Given the description of an element on the screen output the (x, y) to click on. 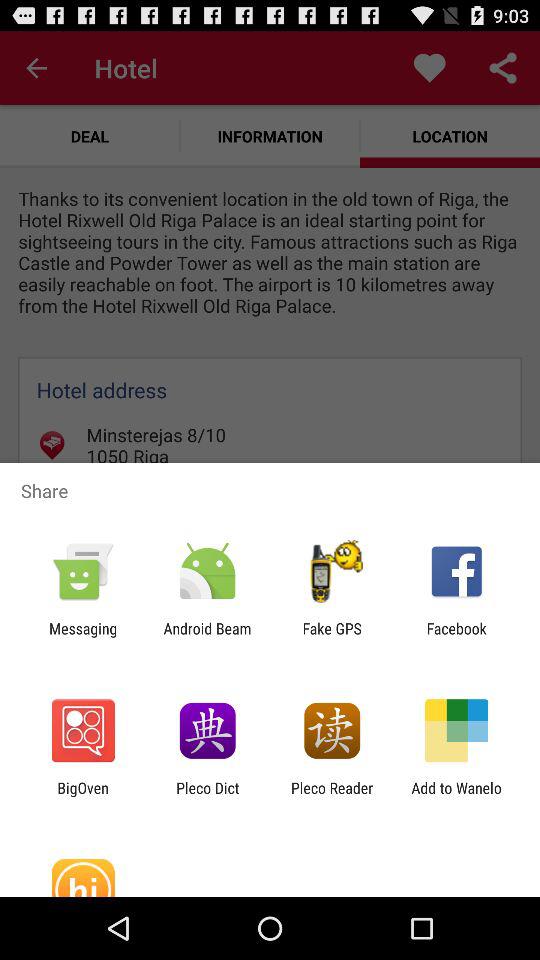
press app to the right of the pleco reader item (456, 796)
